Given the description of an element on the screen output the (x, y) to click on. 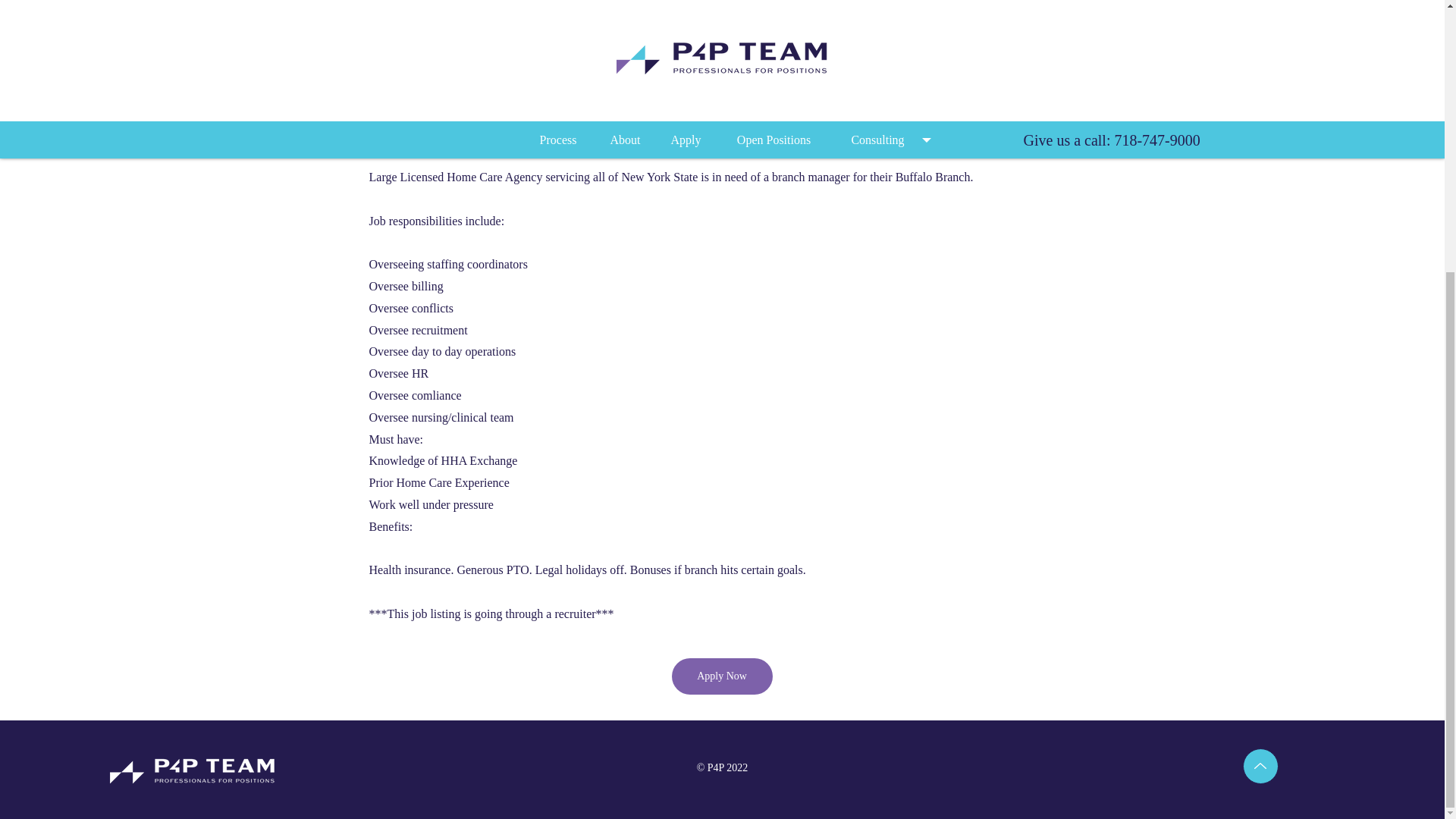
Apply Now (722, 676)
P4P Vertical Logo.png (192, 769)
